Given the description of an element on the screen output the (x, y) to click on. 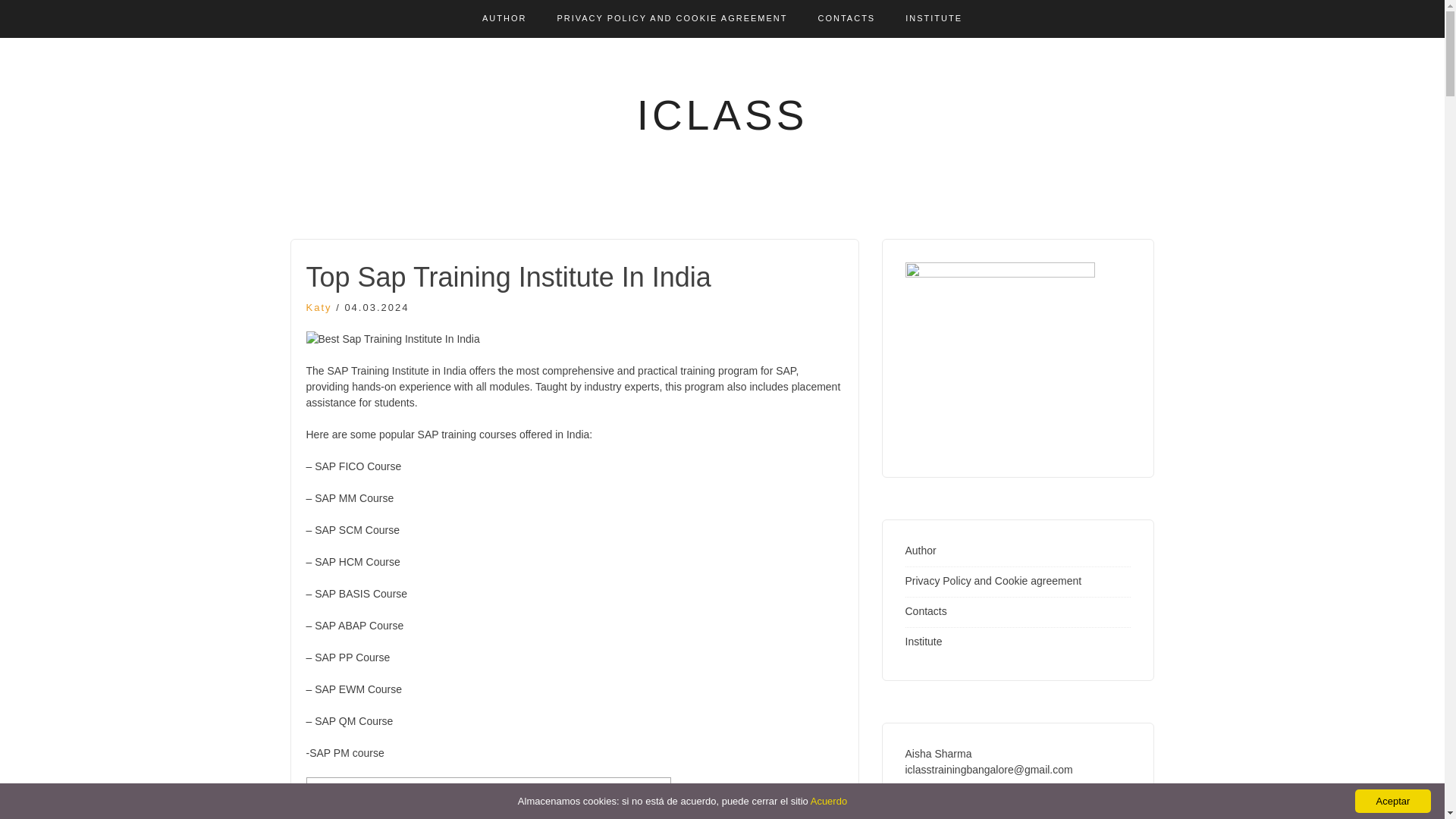
Katy (318, 307)
ICLASS (722, 114)
CONTACTS (847, 18)
0.1 Top SAP Training Institute in India (412, 815)
hide (510, 792)
AUTHOR (503, 18)
INSTITUTE (933, 18)
PRIVACY POLICY AND COOKIE AGREEMENT (671, 18)
